Given the description of an element on the screen output the (x, y) to click on. 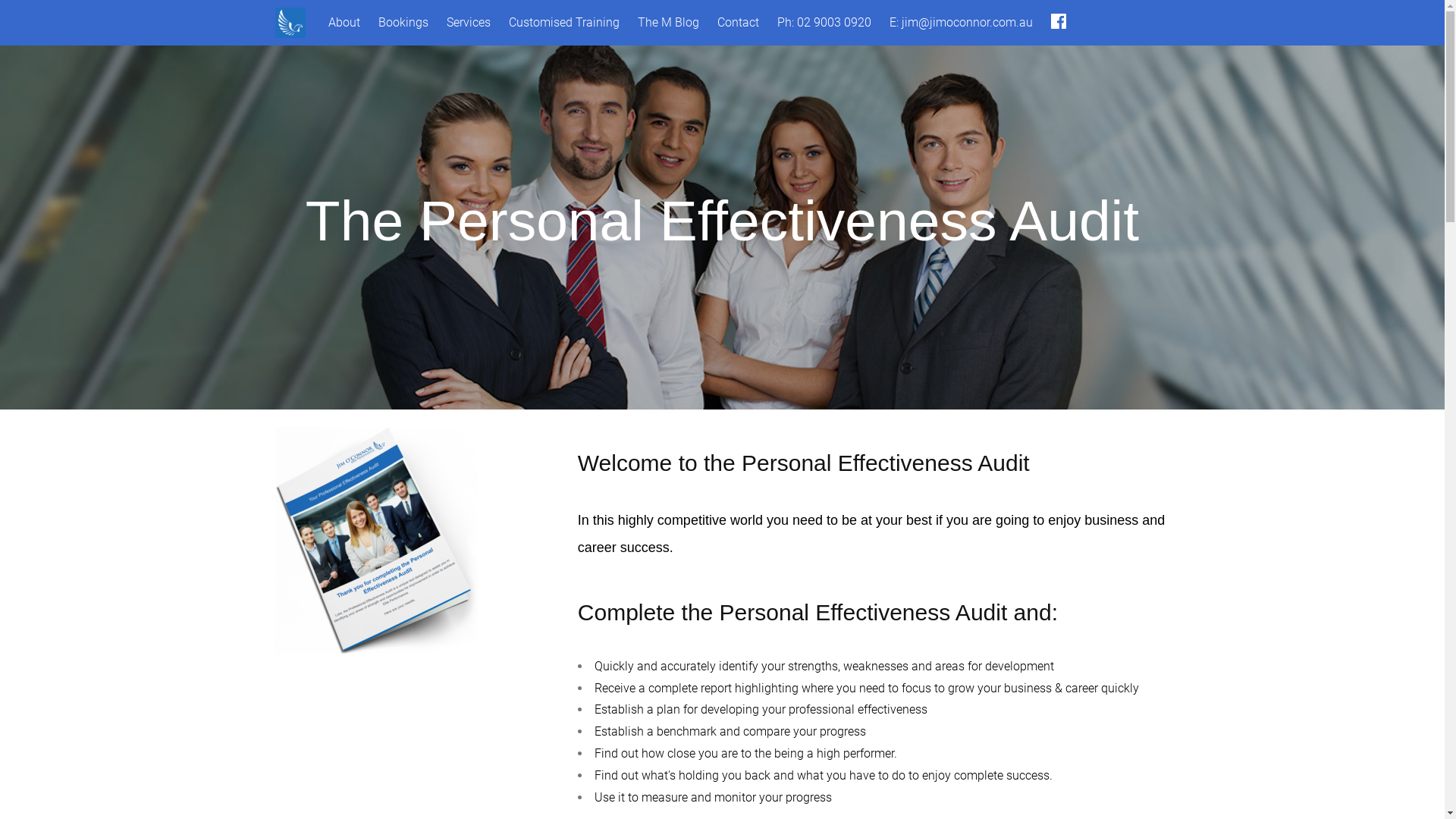
Services Element type: text (467, 22)
The M Blog Element type: text (667, 22)
Ph: 02 9003 0920 Element type: text (823, 22)
E: jim@jimoconnor.com.au Element type: text (960, 22)
Customised Training Element type: text (563, 22)
Contact Element type: text (737, 22)
Bookings Element type: text (402, 22)
About Element type: text (343, 22)
